Given the description of an element on the screen output the (x, y) to click on. 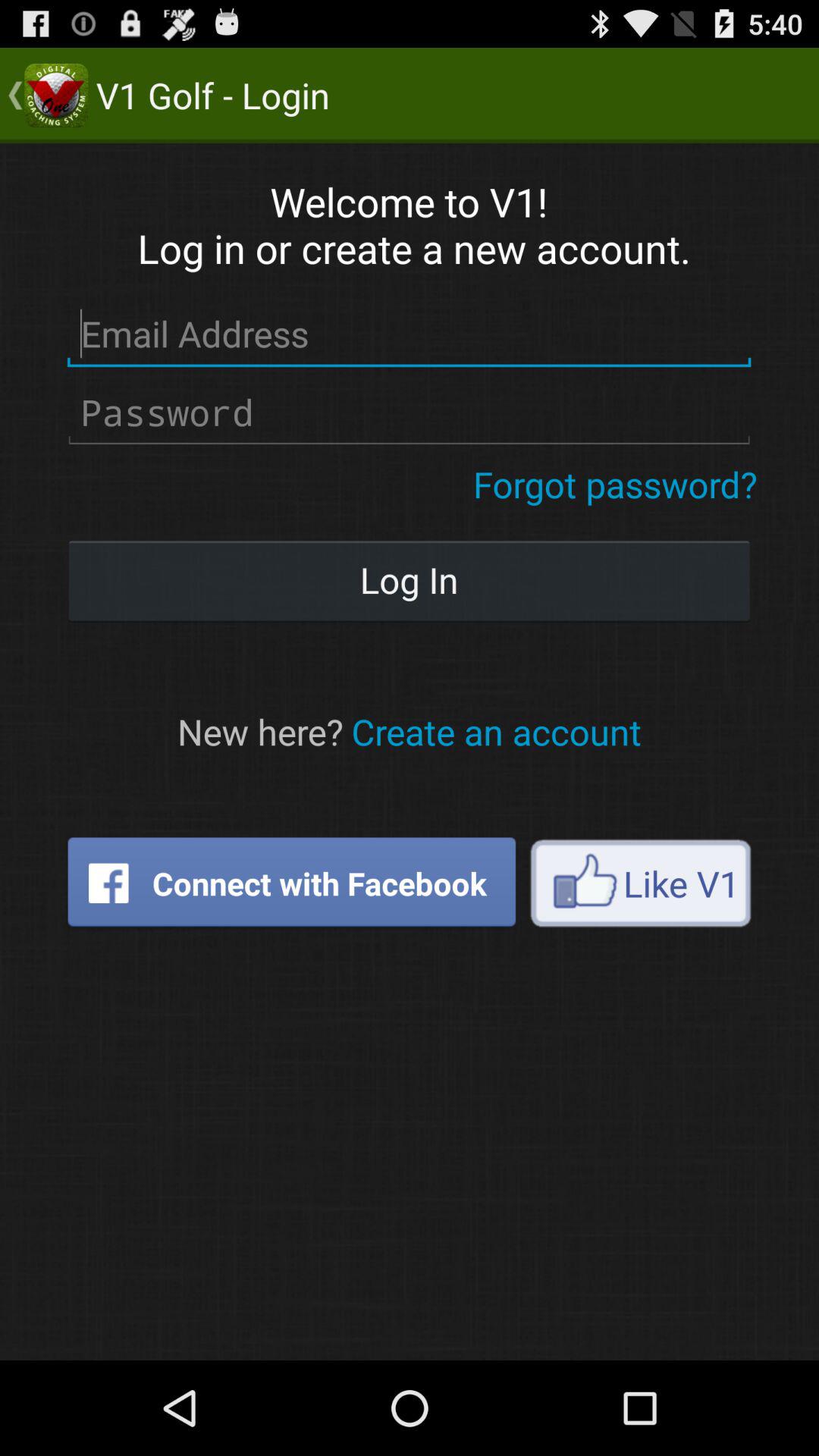
type the email address (408, 334)
